Given the description of an element on the screen output the (x, y) to click on. 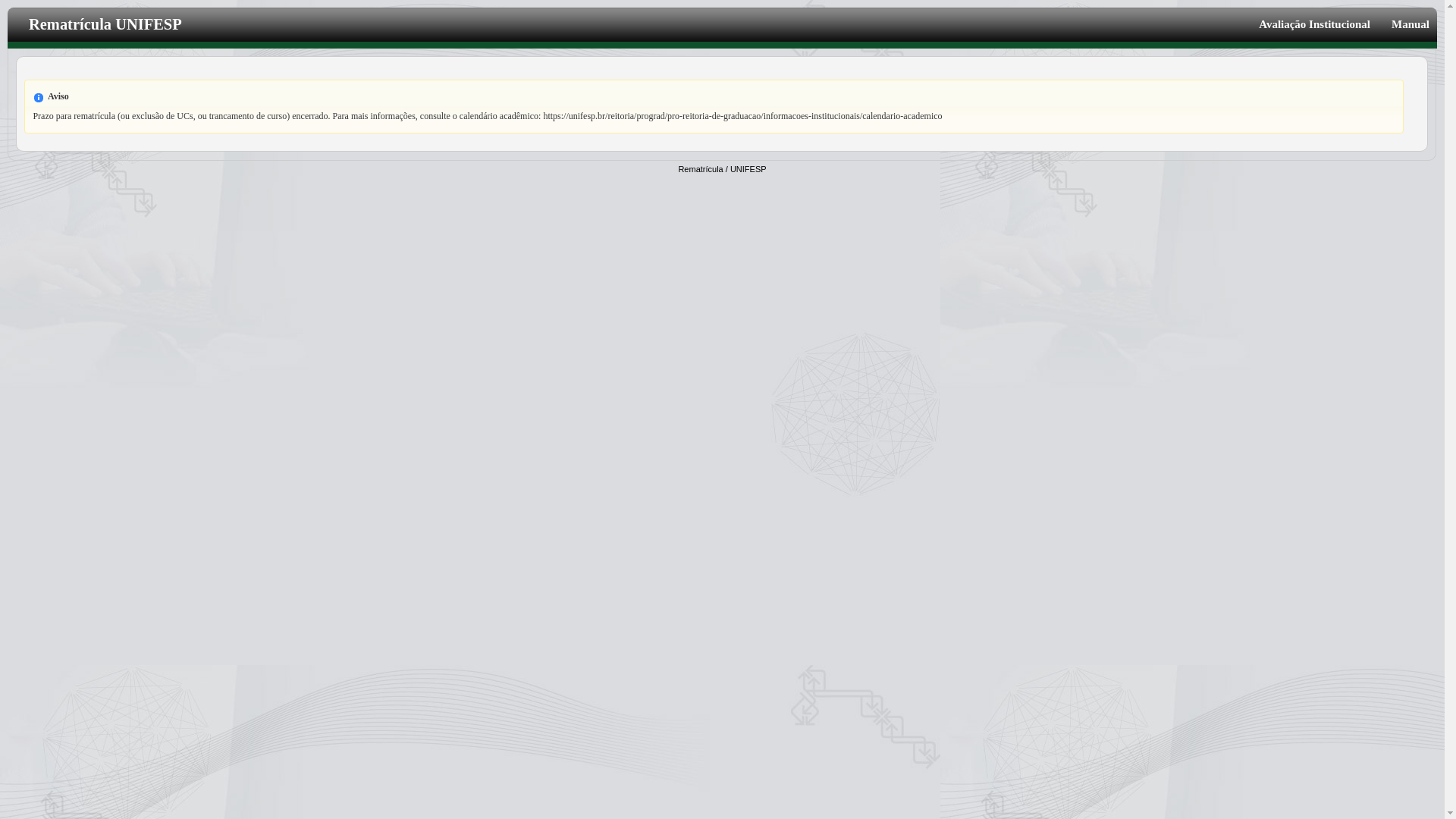
Manual Element type: text (1404, 24)
